Given the description of an element on the screen output the (x, y) to click on. 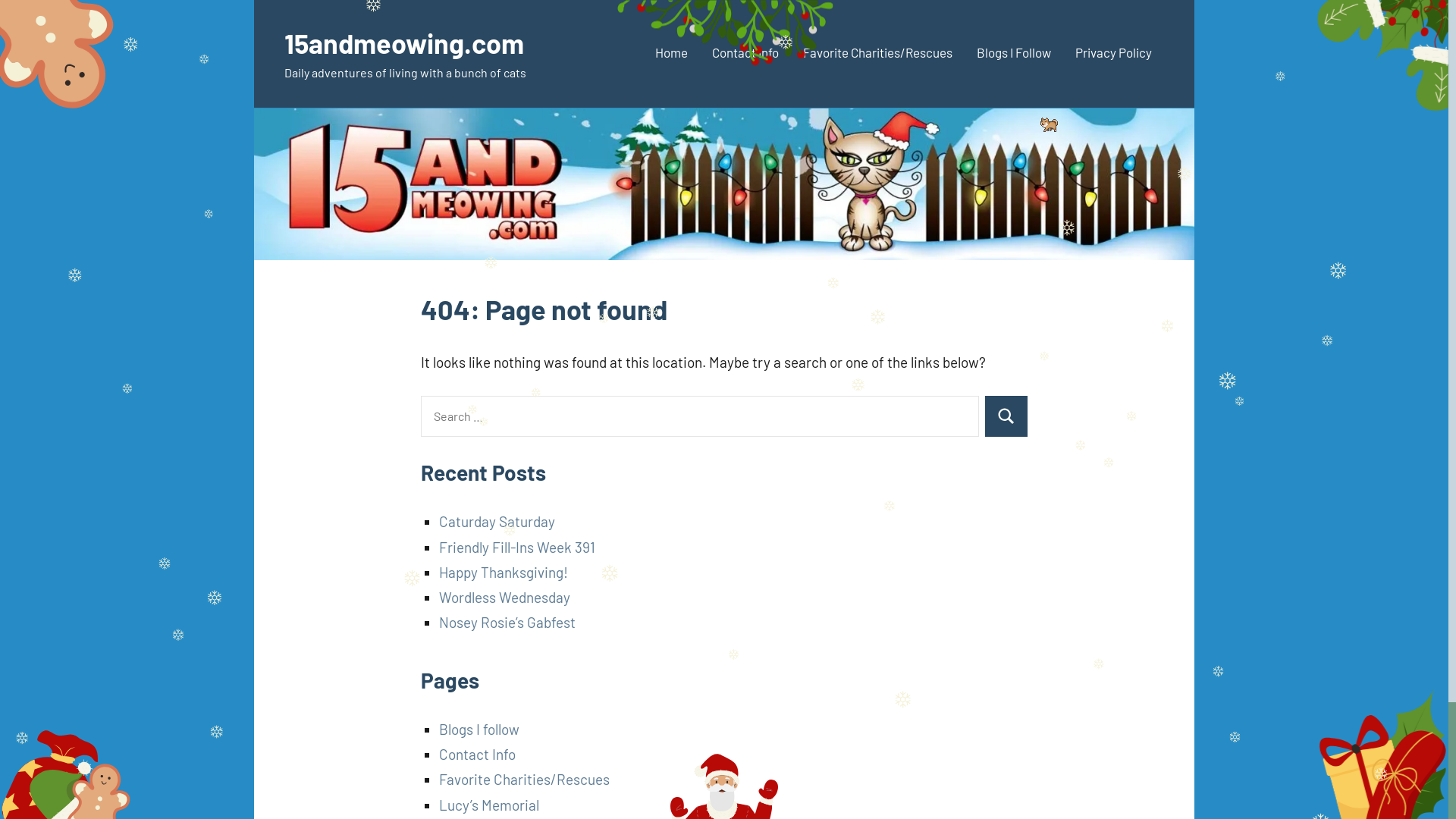
Contact Info Element type: text (745, 54)
Favorite Charities/Rescues Element type: text (524, 778)
Caturday Saturday Element type: text (497, 521)
Blogs I follow Element type: text (479, 728)
Privacy Policy Element type: text (1113, 54)
Friendly Fill-Ins Week 391 Element type: text (517, 546)
Favorite Charities/Rescues Element type: text (877, 54)
Wordless Wednesday Element type: text (504, 596)
Blogs I Follow Element type: text (1013, 54)
Search Element type: text (1006, 415)
15andmeowing.com Element type: text (404, 42)
Happy Thanksgiving! Element type: text (503, 571)
Home Element type: text (671, 54)
Search for: Element type: hover (699, 415)
Contact Info Element type: text (477, 753)
